Given the description of an element on the screen output the (x, y) to click on. 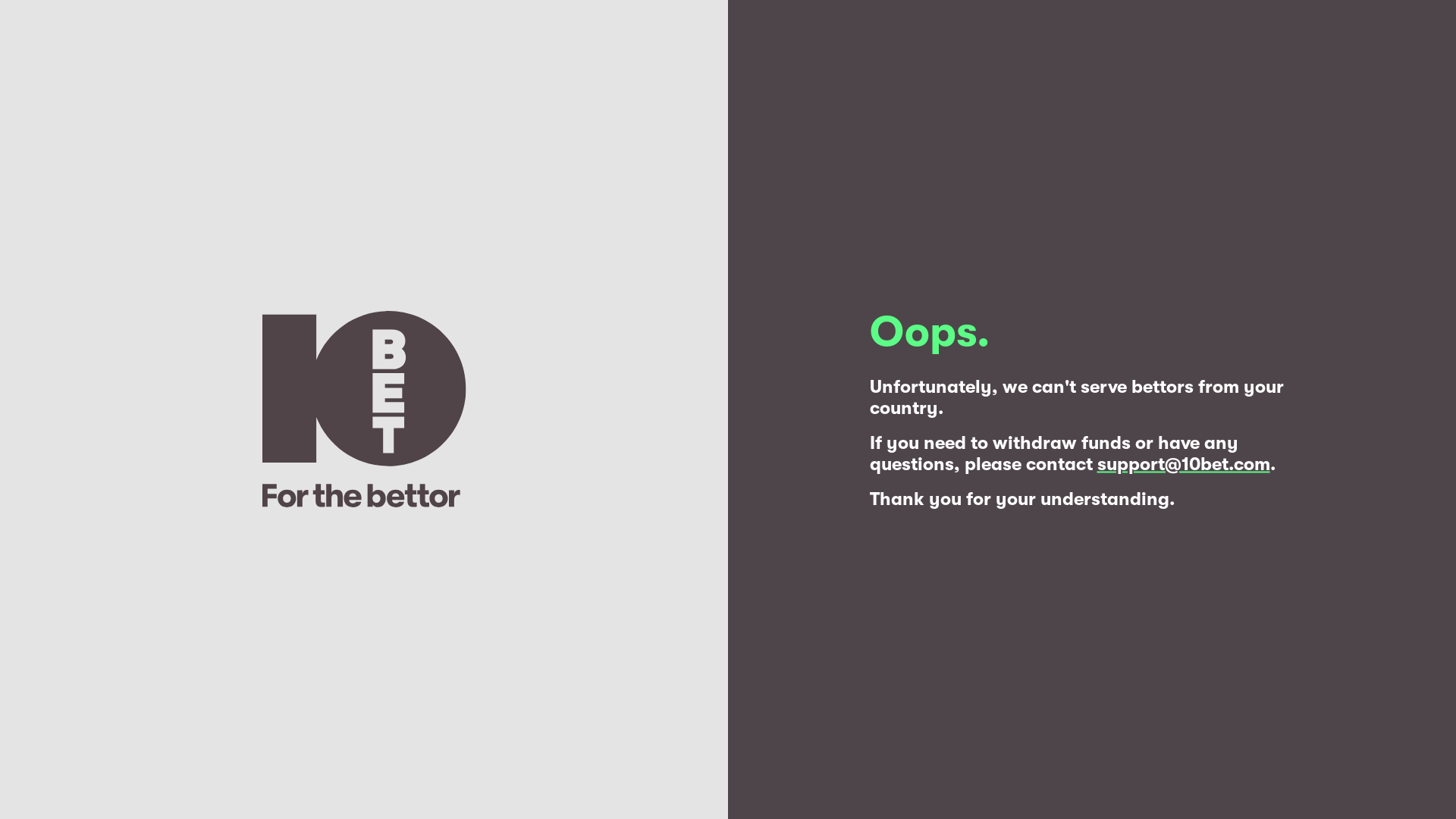
support@10bet.com Element type: text (1182, 463)
